Given the description of an element on the screen output the (x, y) to click on. 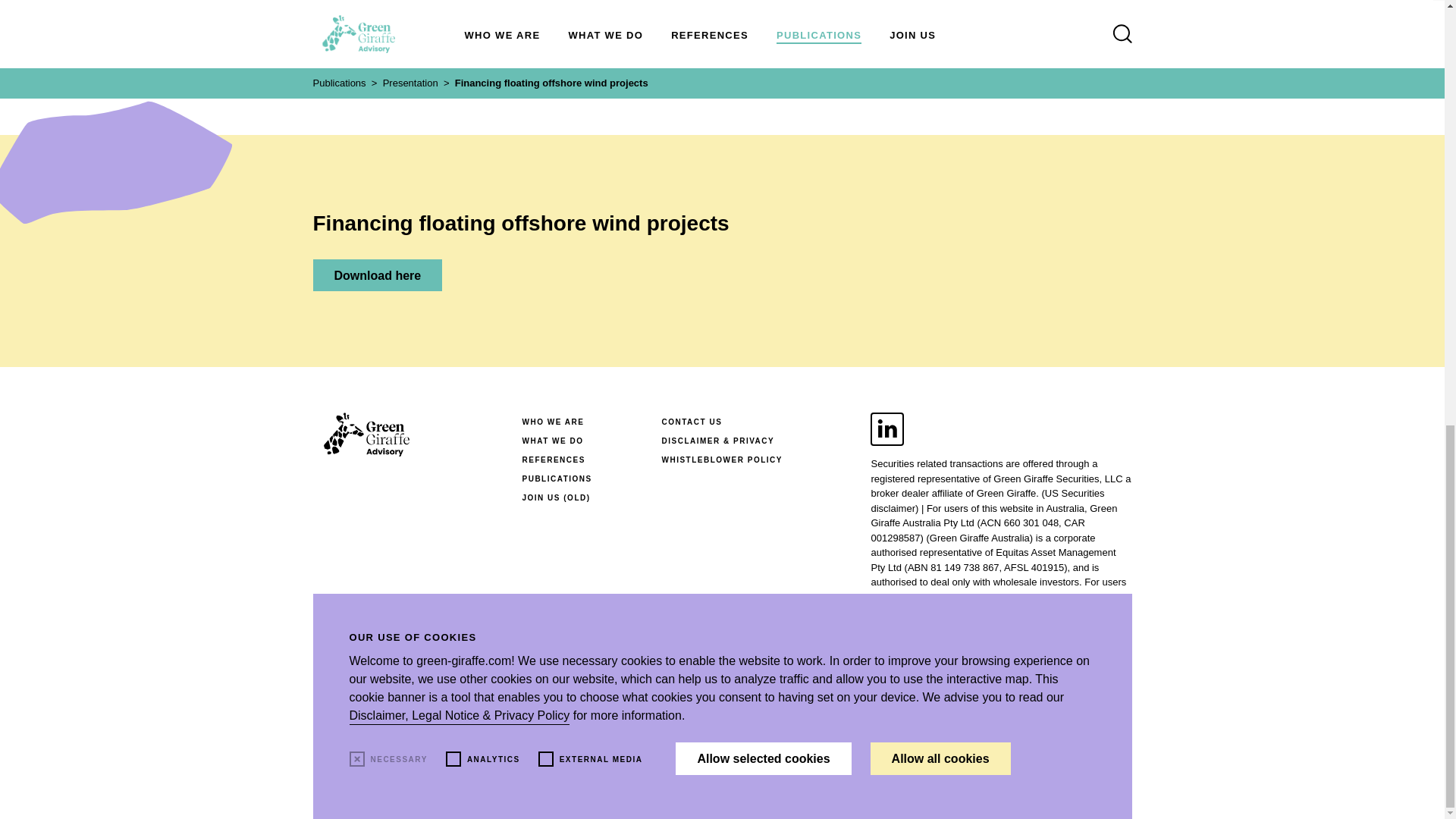
LinkedIn (887, 428)
